Given the description of an element on the screen output the (x, y) to click on. 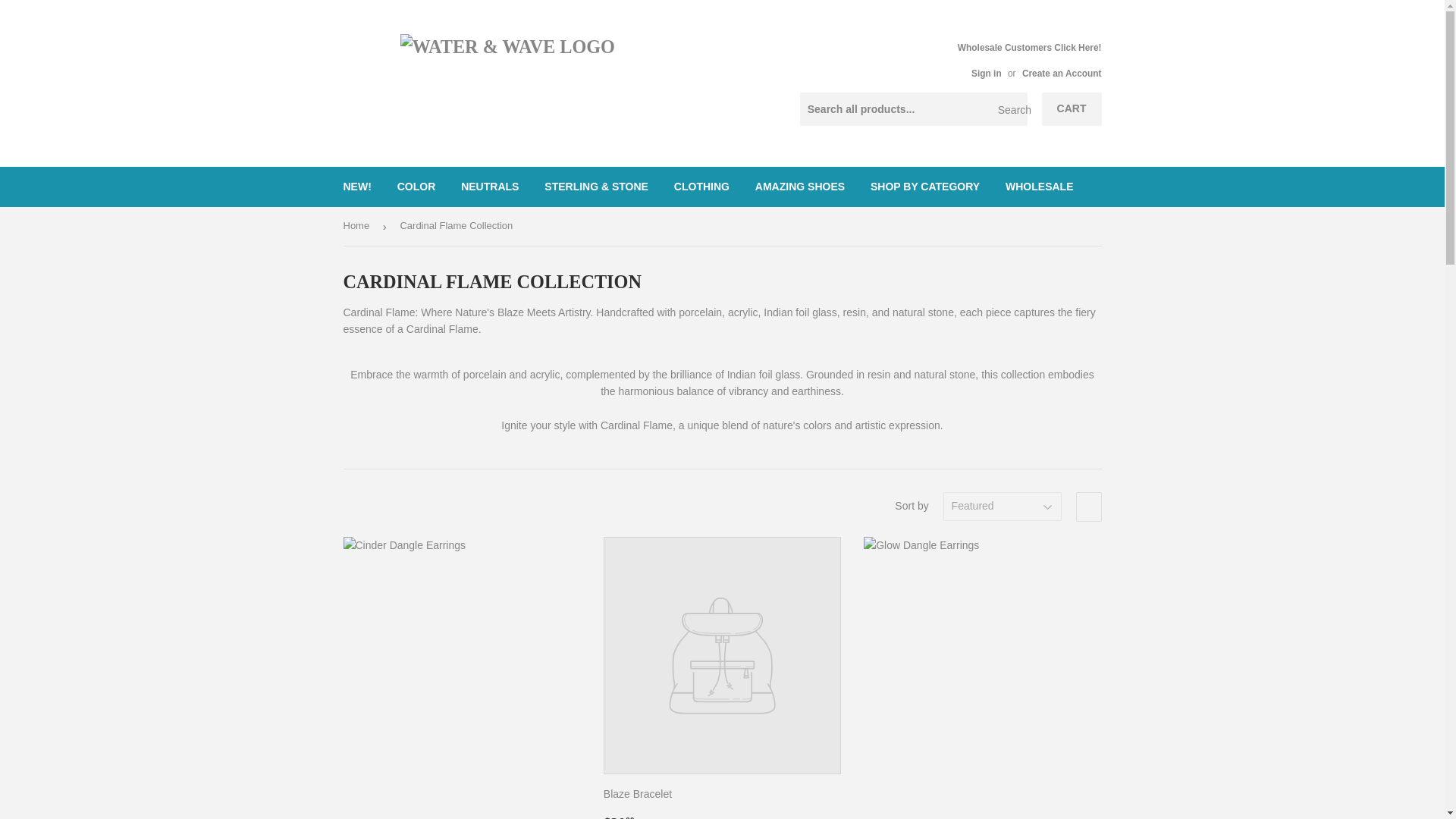
Sign in (986, 72)
Create an Account (1062, 72)
Search (1009, 110)
CART (1072, 109)
Wholesale Customers Click Here! (1030, 59)
